Given the description of an element on the screen output the (x, y) to click on. 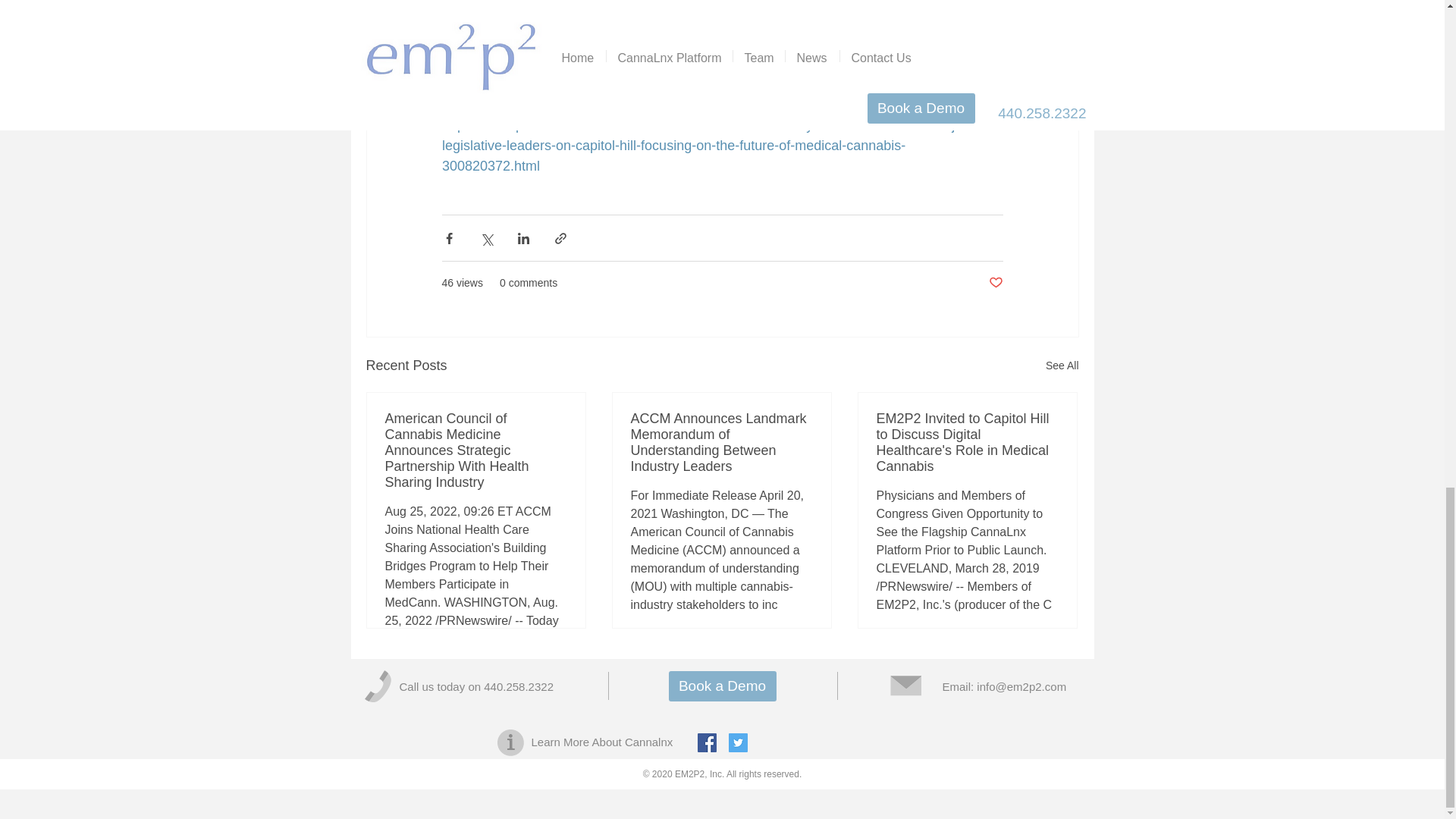
Book a Demo (722, 685)
Learn More About Cannalnx (601, 741)
Post not marked as liked (995, 283)
See All (1061, 365)
